Given the description of an element on the screen output the (x, y) to click on. 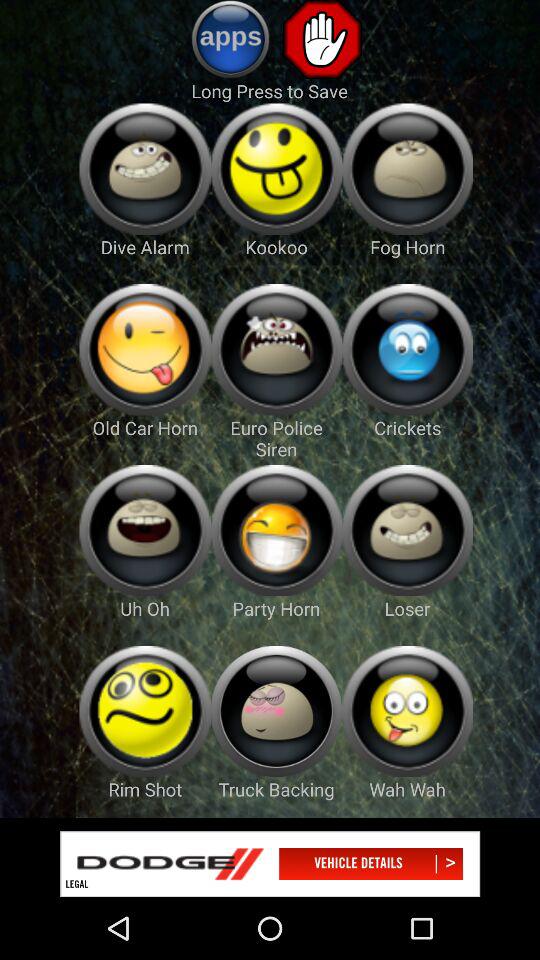
stop button (322, 39)
